Given the description of an element on the screen output the (x, y) to click on. 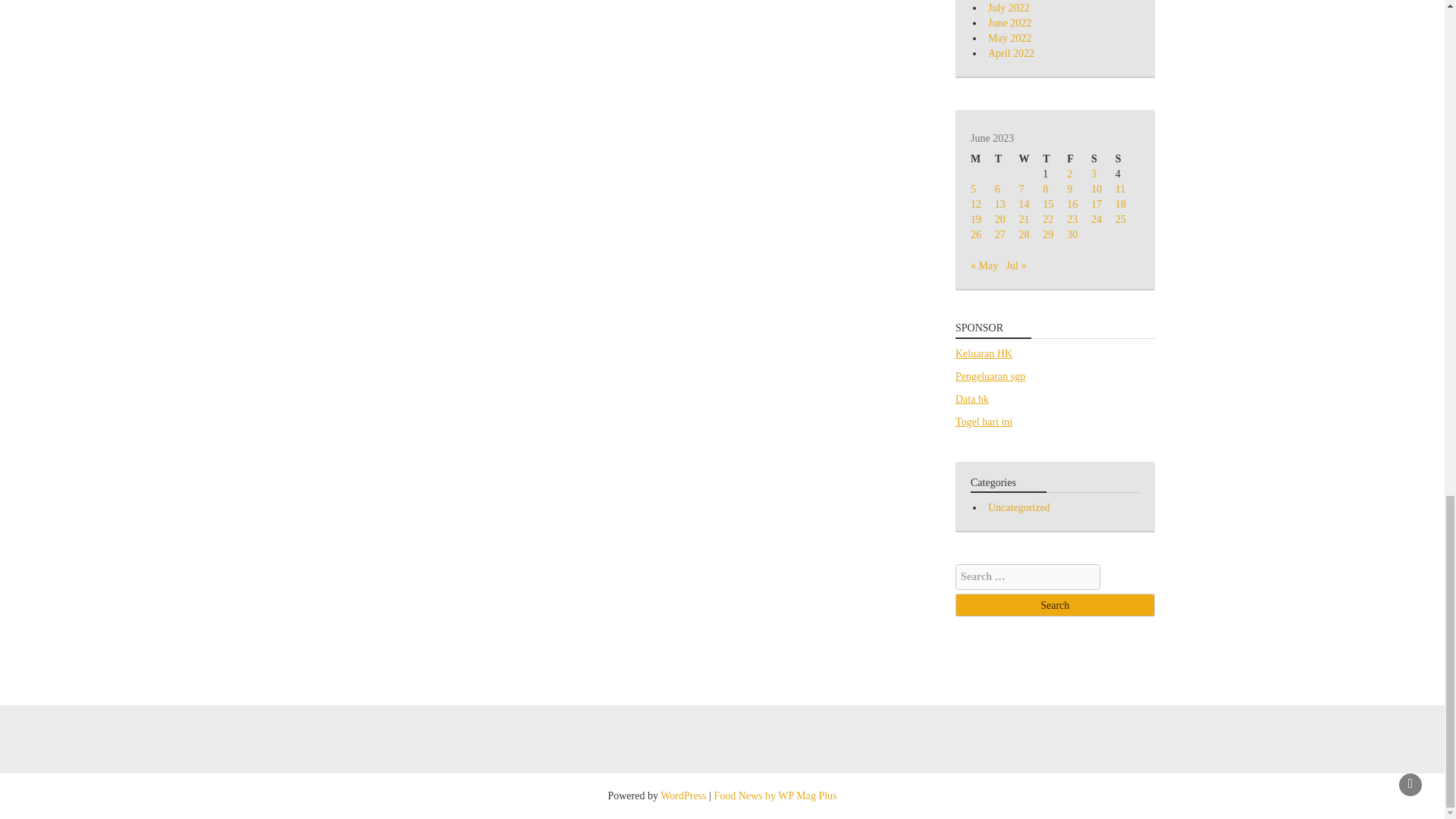
Search for: (1027, 576)
Sunday (1127, 159)
Search (1054, 604)
Friday (1078, 159)
Monday (982, 159)
Tuesday (1006, 159)
Wednesday (1031, 159)
Thursday (1054, 159)
Saturday (1102, 159)
Search (1054, 604)
